Given the description of an element on the screen output the (x, y) to click on. 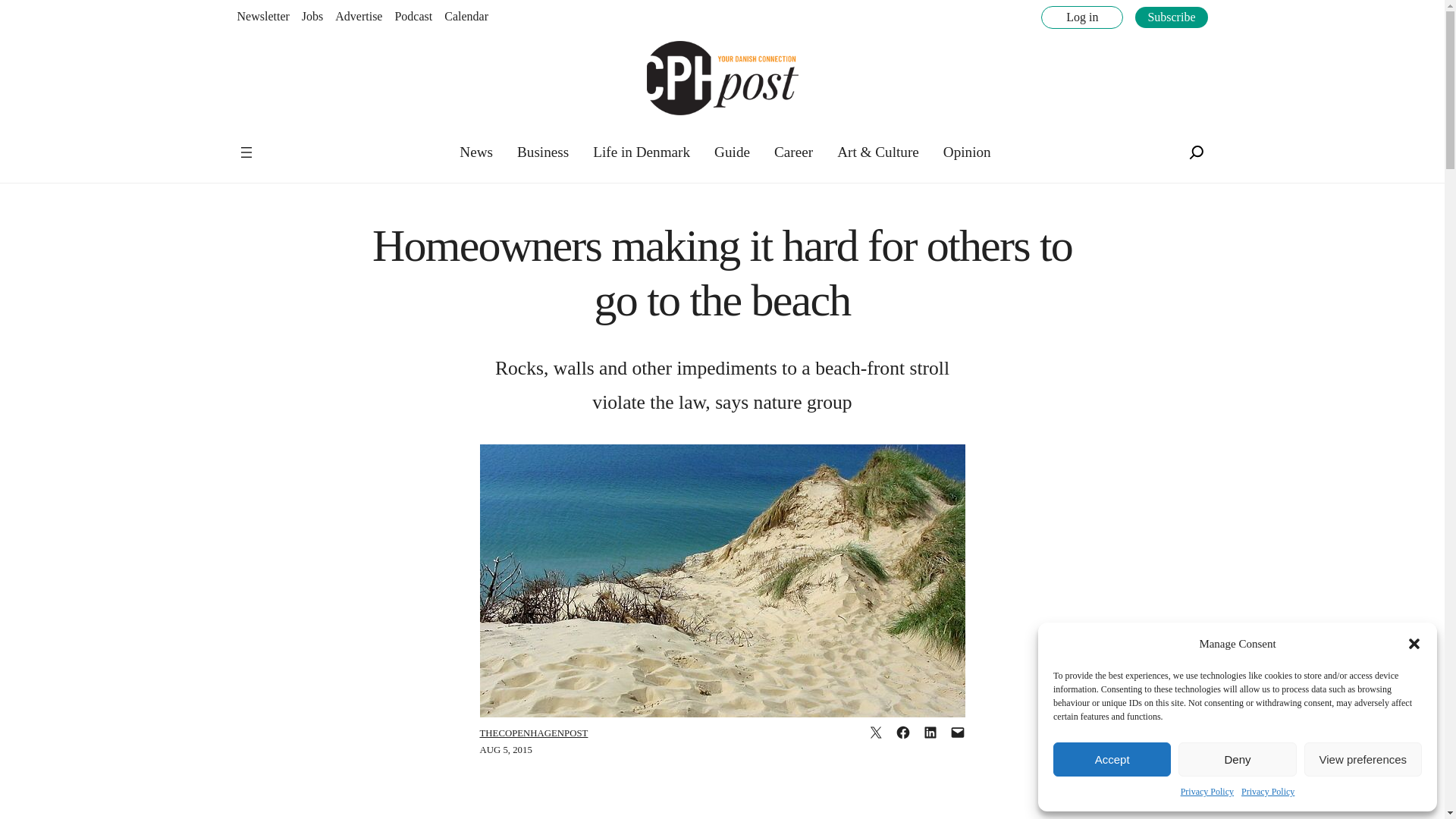
Deny (1236, 759)
Accept (1111, 759)
Privacy Policy (1267, 791)
View preferences (1363, 759)
Privacy Policy (1206, 791)
The Copenhagen Post (284, 143)
Posts by TheCopenhagenPost (533, 733)
